Given the description of an element on the screen output the (x, y) to click on. 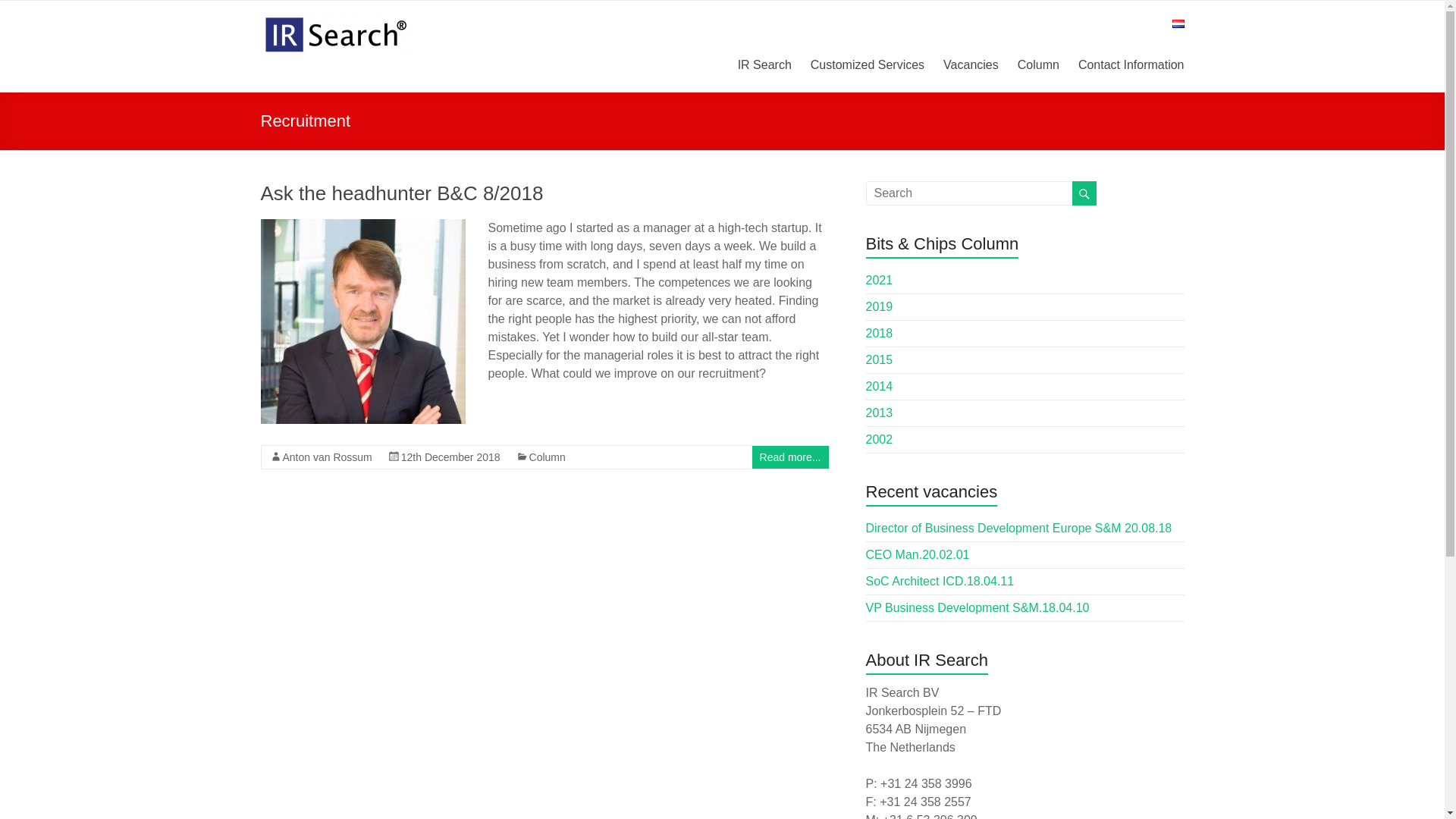
2015 (879, 359)
2018 (879, 332)
Customized Services (867, 62)
2:14 pm (450, 457)
Column (547, 457)
Vacancies (970, 62)
2013 (879, 412)
IR Search (765, 62)
12th December 2018 (450, 457)
Contact Information (1131, 62)
IR Search (336, 19)
2014 (879, 386)
CEO Man.20.02.01 (917, 554)
Anton van Rossum (326, 457)
Read more... (790, 457)
